Given the description of an element on the screen output the (x, y) to click on. 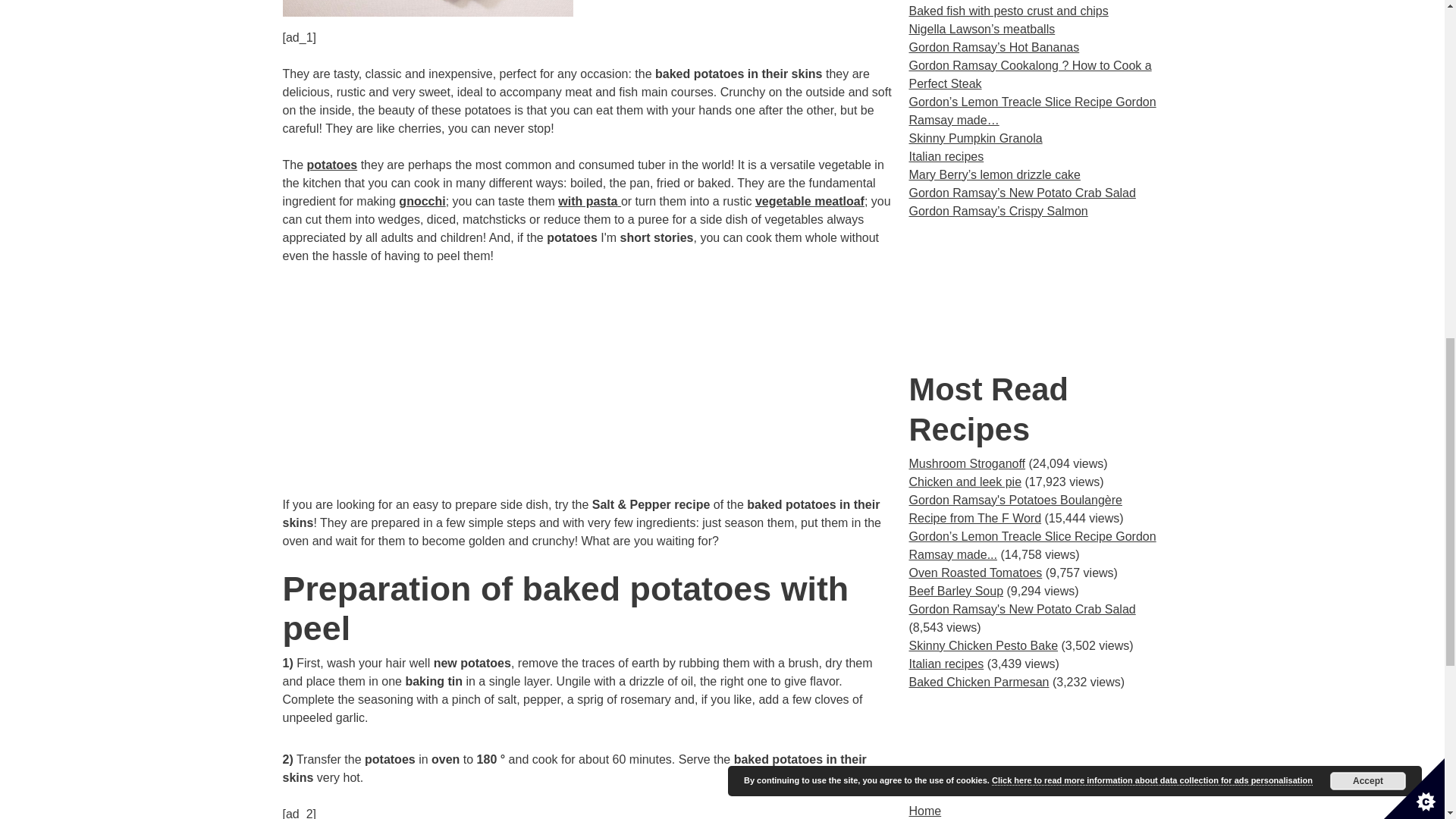
Advertisement (587, 389)
Gordon Ramsay's New Potato Crab Salad (1021, 608)
Advertisement (1034, 746)
Chicken and leek pie (965, 481)
Mushroom Stroganoff (966, 463)
Italian recipes (946, 663)
Oven Roasted Tomatoes (975, 572)
Advertisement (1034, 294)
Skinny Chicken Pesto Bake (983, 645)
Beef Barley Soup (955, 590)
Baked Chicken Parmesan (978, 681)
